Given the description of an element on the screen output the (x, y) to click on. 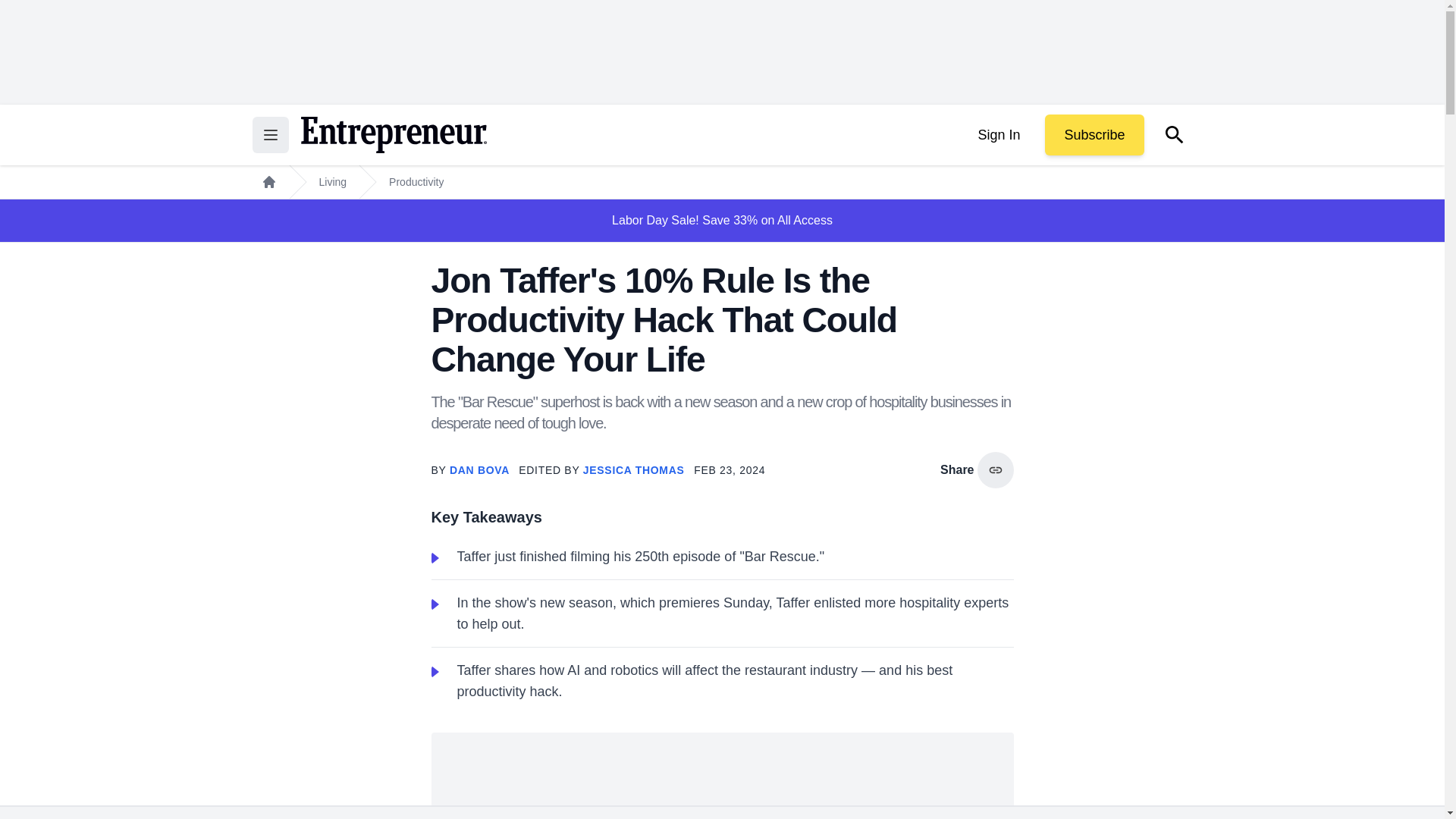
Subscribe (1093, 134)
copy (994, 470)
Return to the home page (392, 135)
Sign In (998, 134)
